Given the description of an element on the screen output the (x, y) to click on. 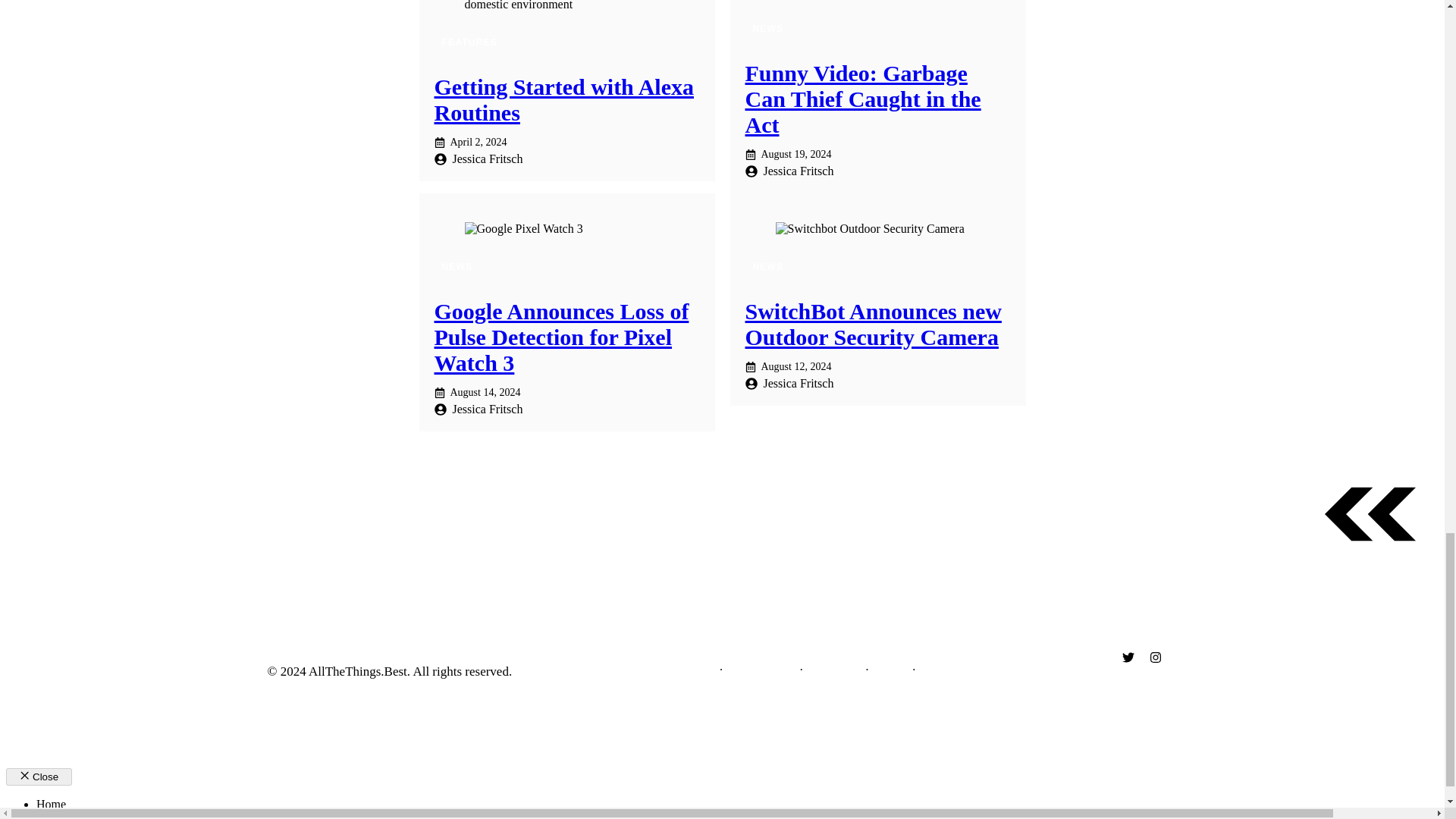
Disclosures (834, 669)
FEATURES (468, 42)
About Us (692, 669)
Getting Started with Alexa Routines (563, 99)
Funny Video: Garbage Can Thief Caught in the Act (861, 98)
SwitchBot Announces new Outdoor Security Camera (872, 323)
NEWS (767, 28)
NEWS (767, 266)
Privacy Policy (760, 669)
NEWS (456, 266)
